Given the description of an element on the screen output the (x, y) to click on. 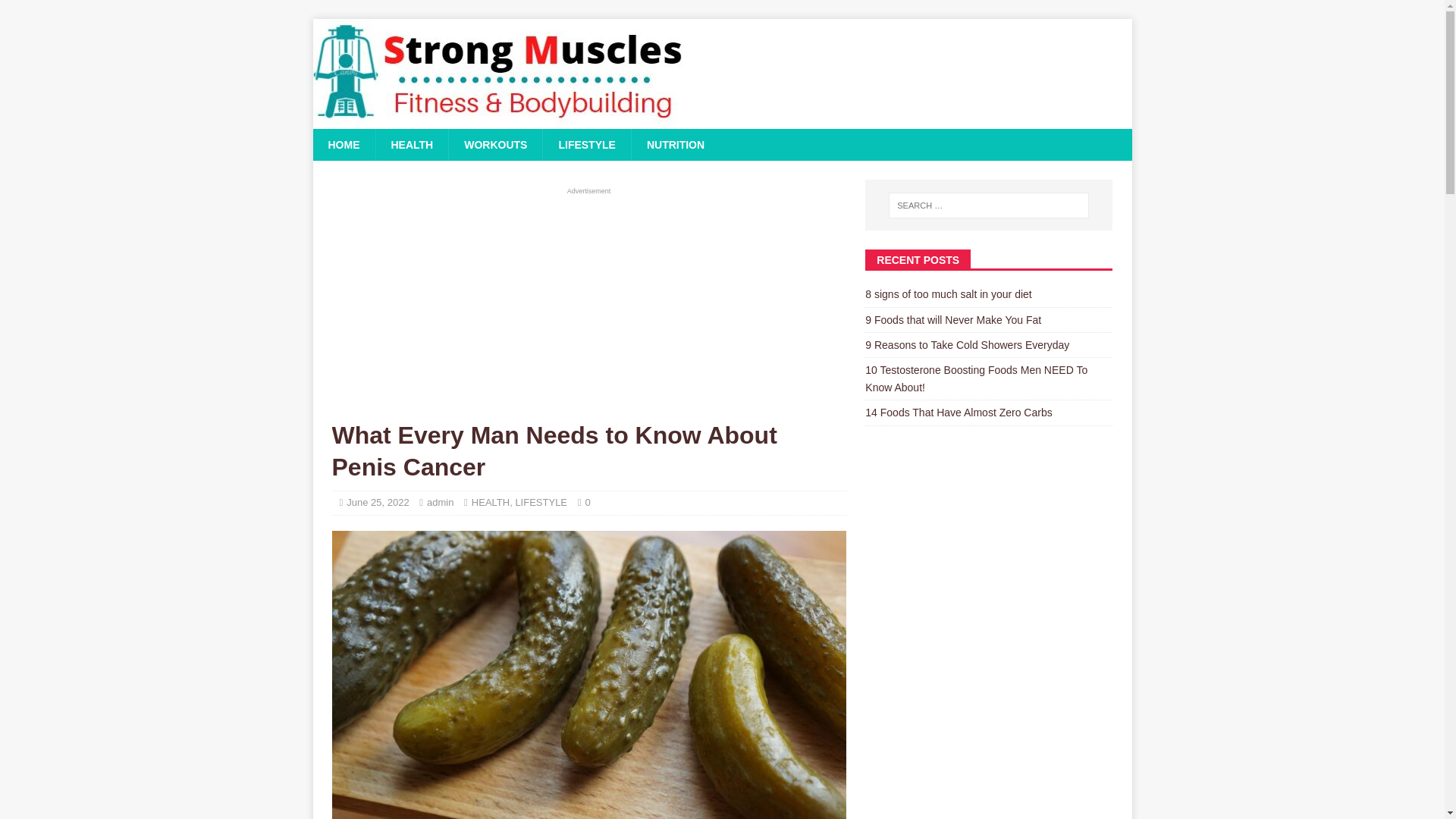
HEALTH (411, 144)
HEALTH (490, 501)
9 Reasons to Take Cold Showers Everyday (966, 345)
HOME (343, 144)
Strong Muscles (499, 120)
10 Testosterone Boosting Foods Men NEED To Know About! (975, 378)
June 25, 2022 (377, 501)
9 Foods that will Never Make You Fat (952, 319)
Advertisement (588, 303)
